Given the description of an element on the screen output the (x, y) to click on. 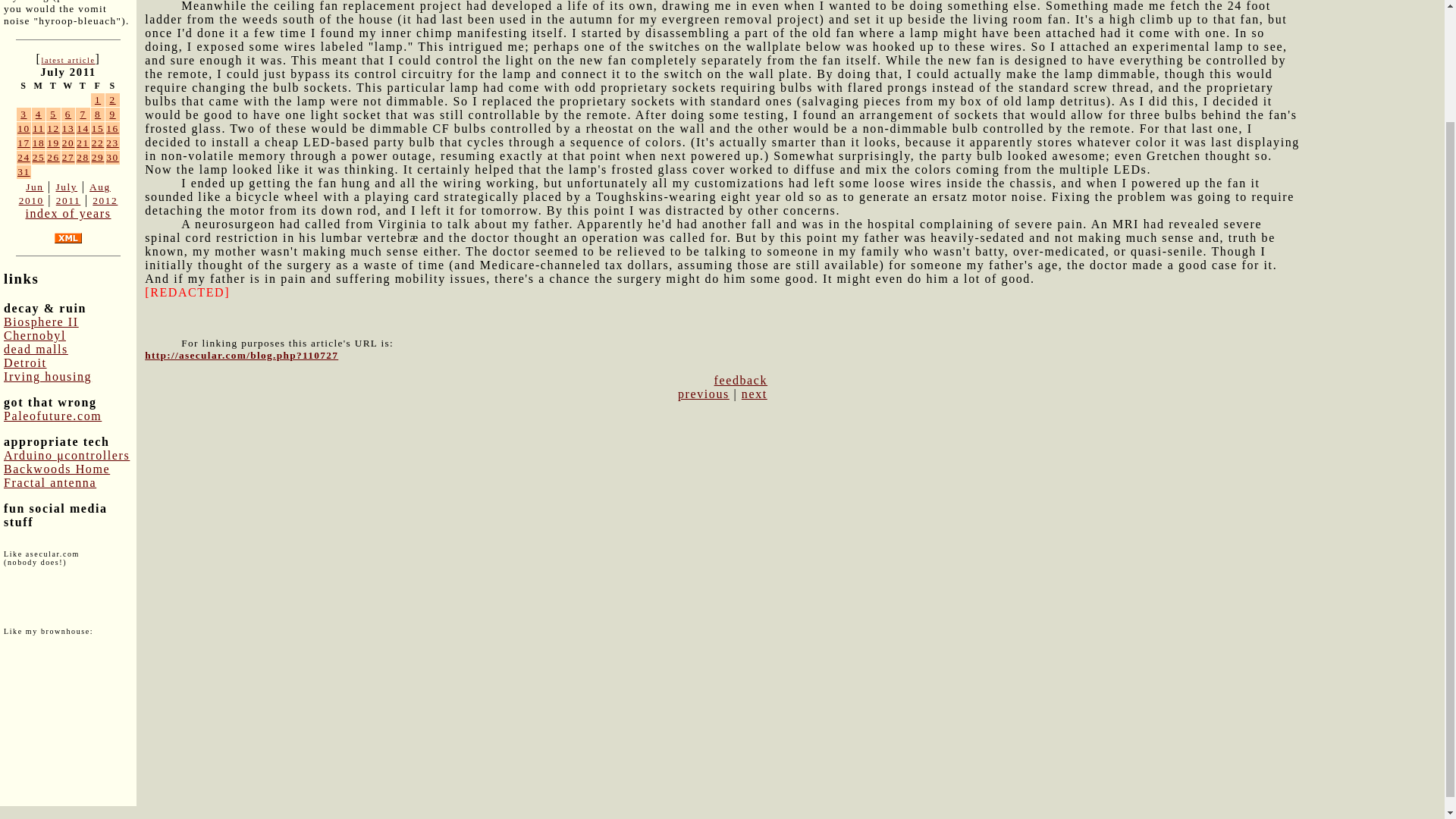
15 (97, 128)
30 (112, 156)
21 (82, 142)
11 (38, 128)
20 (68, 142)
2012 (105, 200)
22 (97, 142)
13 (68, 128)
index of years (67, 213)
July (66, 186)
23 (112, 142)
14 (82, 128)
2010 (30, 200)
18 (38, 142)
19 (52, 142)
